Given the description of an element on the screen output the (x, y) to click on. 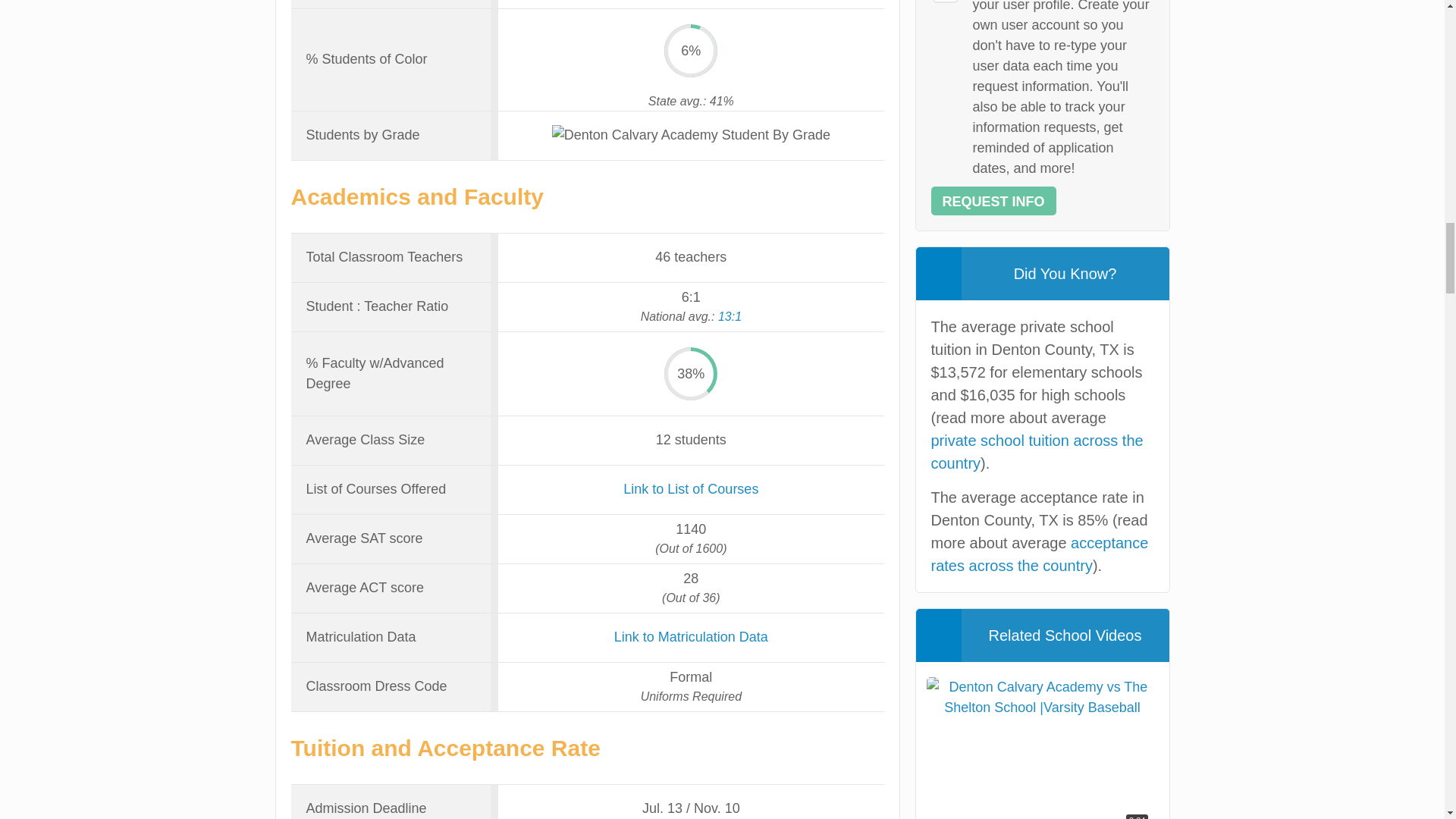
Denton Calvary Academy Student By Grade  (690, 135)
13:1 (729, 316)
Link to List of Courses (690, 488)
